Given the description of an element on the screen output the (x, y) to click on. 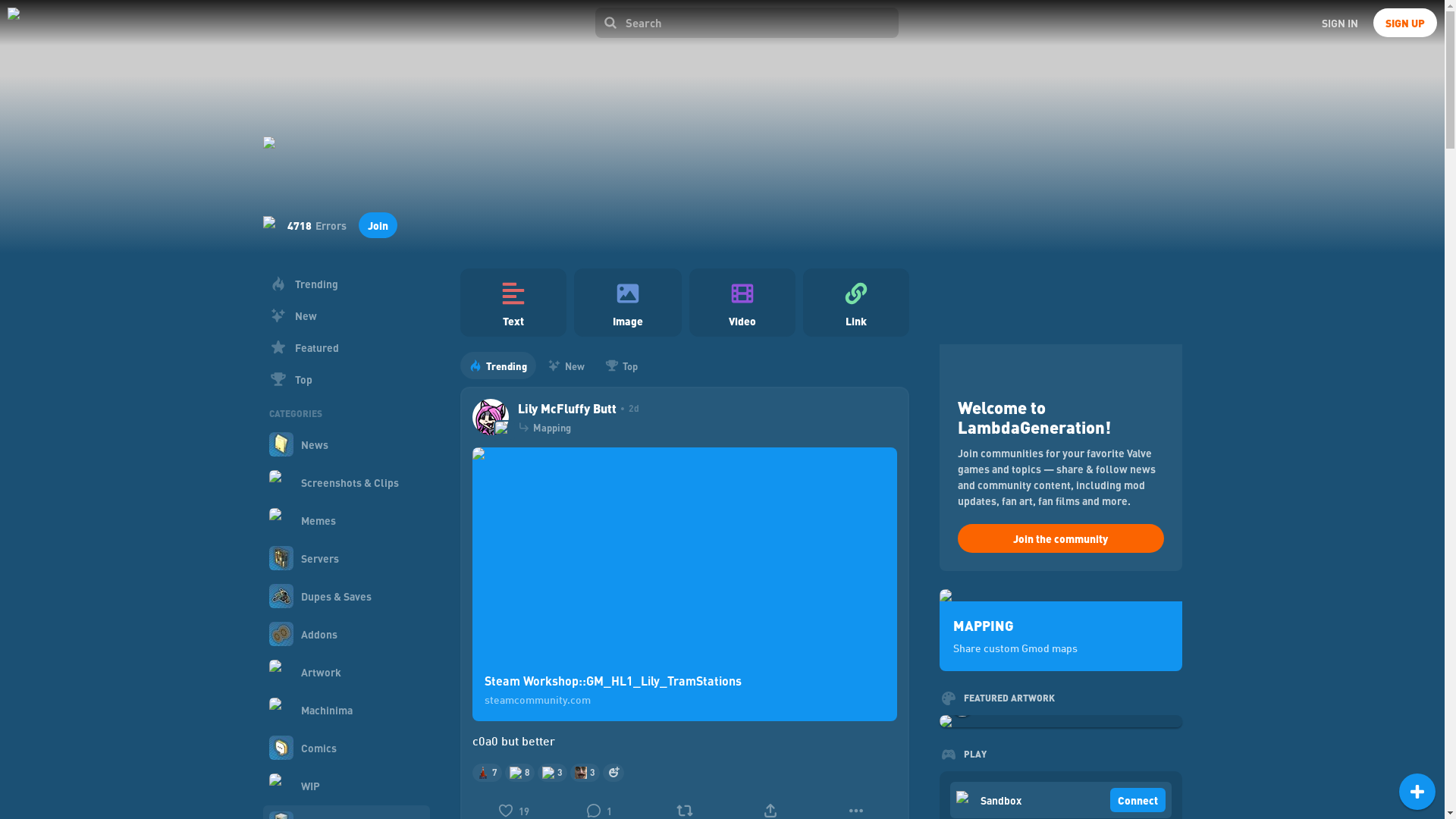
Featured (345, 347)
SIGN UP (1405, 22)
Servers (345, 557)
1 (598, 806)
Top (345, 378)
Addons (345, 633)
Trending (497, 365)
Mapping (551, 427)
2d (627, 408)
Comics (345, 747)
4718 Errors (316, 225)
Top (620, 365)
New (345, 315)
Machinima (345, 709)
Trending (345, 283)
